Given the description of an element on the screen output the (x, y) to click on. 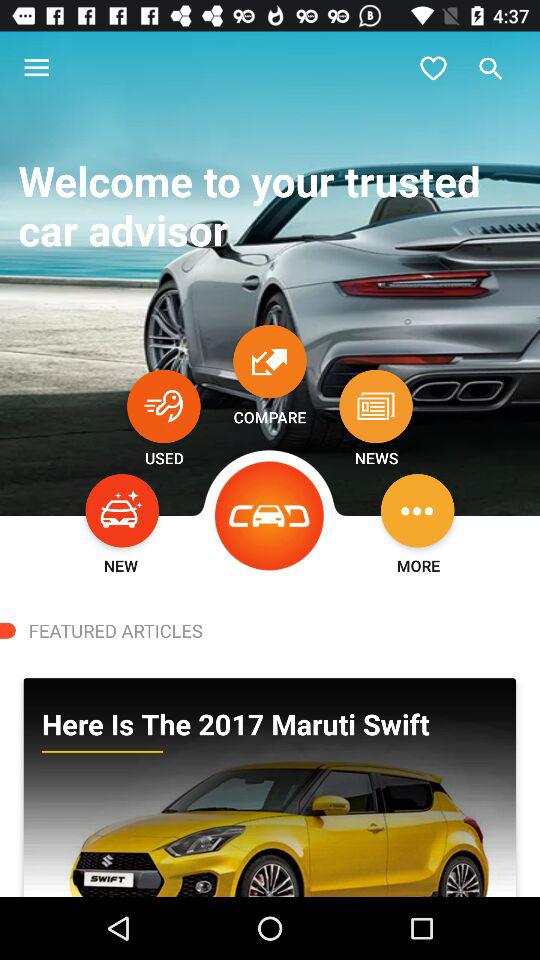
select the icon to the left of news (269, 515)
